Given the description of an element on the screen output the (x, y) to click on. 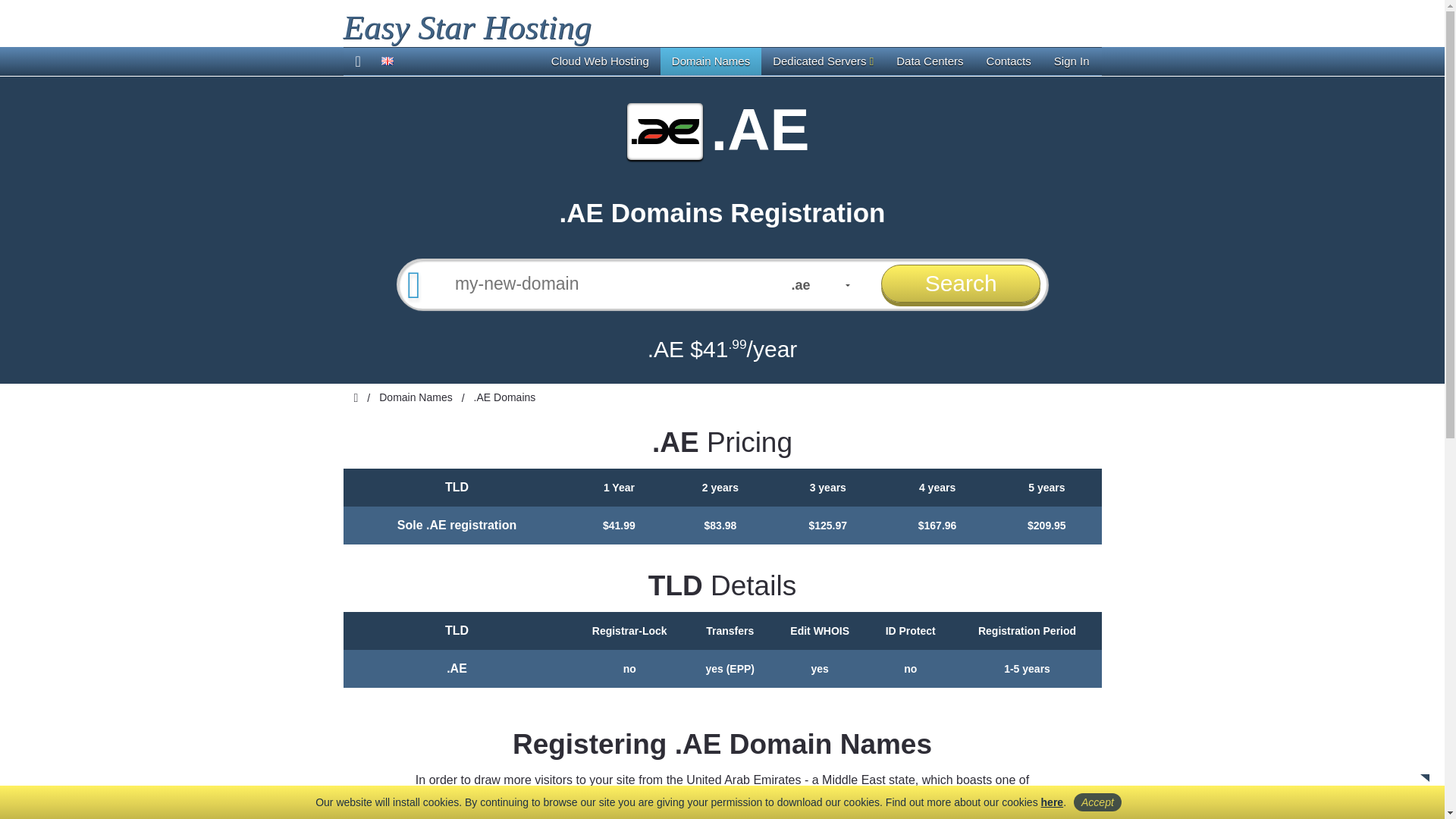
Cloud Web Hosting (600, 61)
Easy Star Hosting (466, 26)
Domain Names (711, 61)
Dedicated Servers (823, 61)
Privacy Policy (1052, 802)
